Given the description of an element on the screen output the (x, y) to click on. 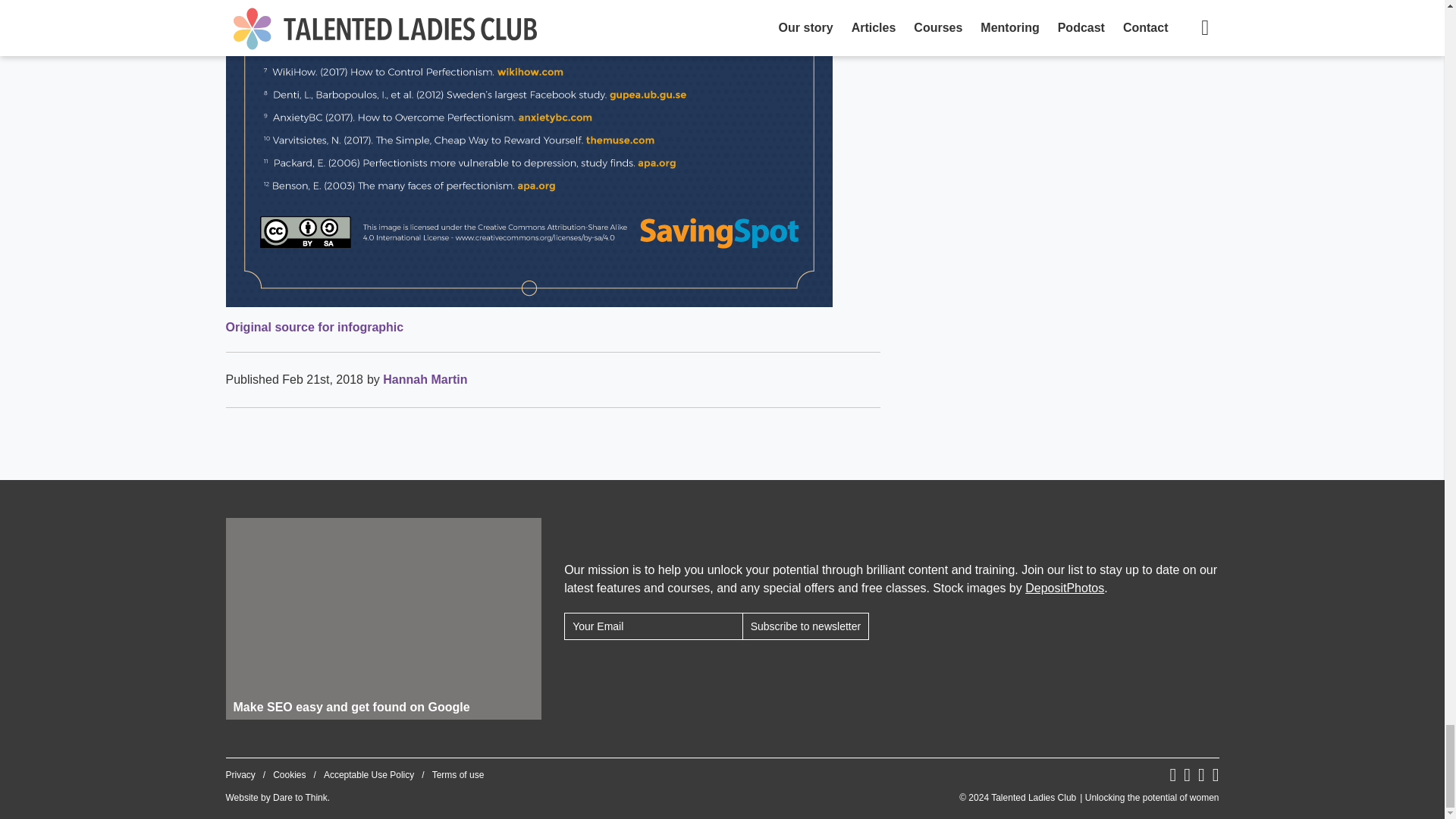
Talented Ladies Club (1088, 797)
Website design and development services from Dare to Think (300, 797)
Subscribe to newsletter (805, 625)
